Given the description of an element on the screen output the (x, y) to click on. 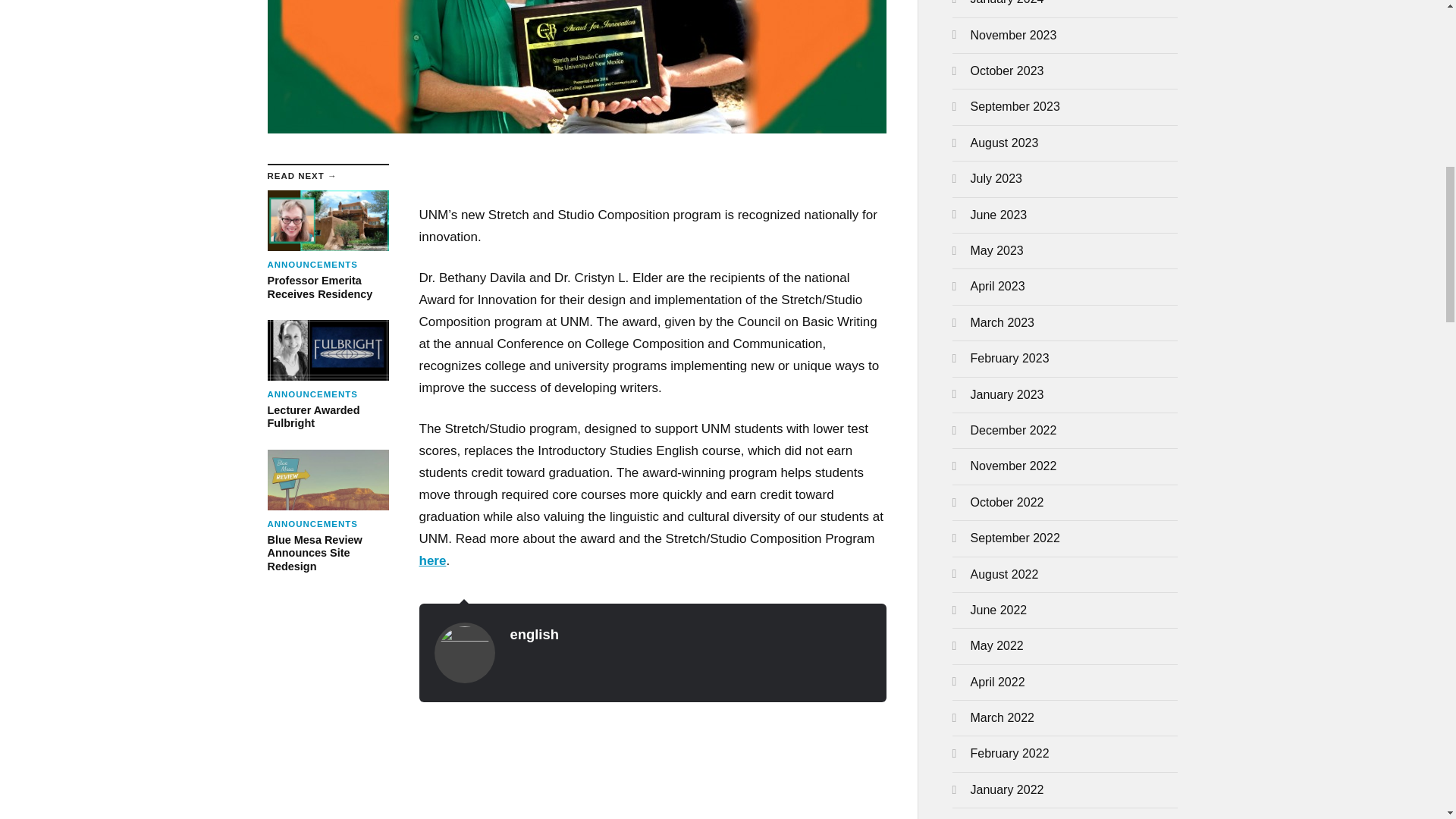
January 2024 (1007, 2)
November 2023 (1014, 34)
english (533, 634)
here (327, 245)
October 2023 (432, 560)
